Given the description of an element on the screen output the (x, y) to click on. 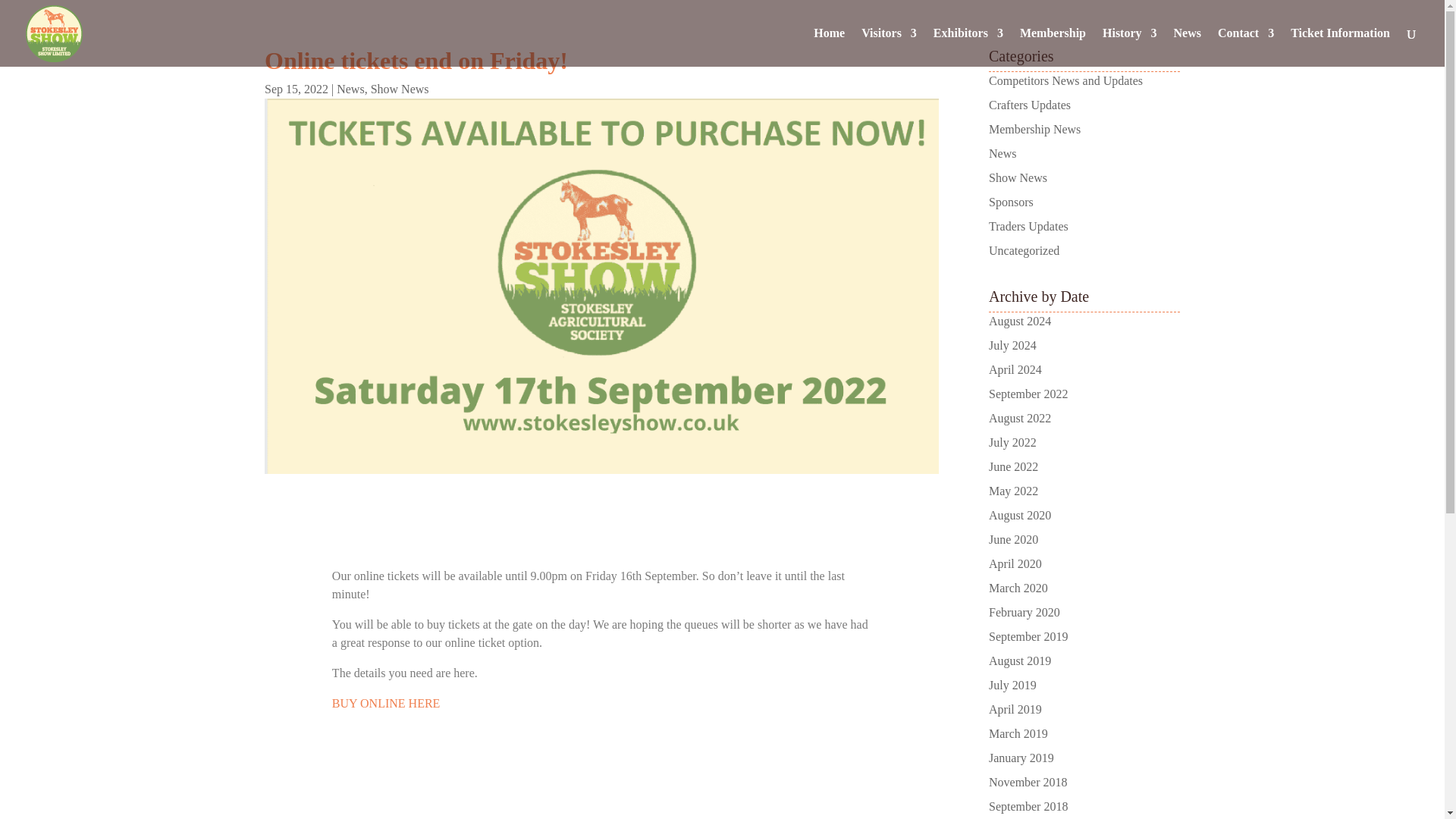
Exhibitors (968, 46)
July 2024 (1012, 345)
July 2022 (1012, 441)
Show News (1017, 177)
Uncategorized (1023, 250)
Traders Updates (1028, 226)
News (350, 88)
Show News (400, 88)
May 2022 (1013, 490)
August 2024 (1019, 320)
September 2022 (1027, 393)
BUY ONLINE HERE (386, 703)
August 2020 (1019, 514)
Membership News (1034, 128)
